Given the description of an element on the screen output the (x, y) to click on. 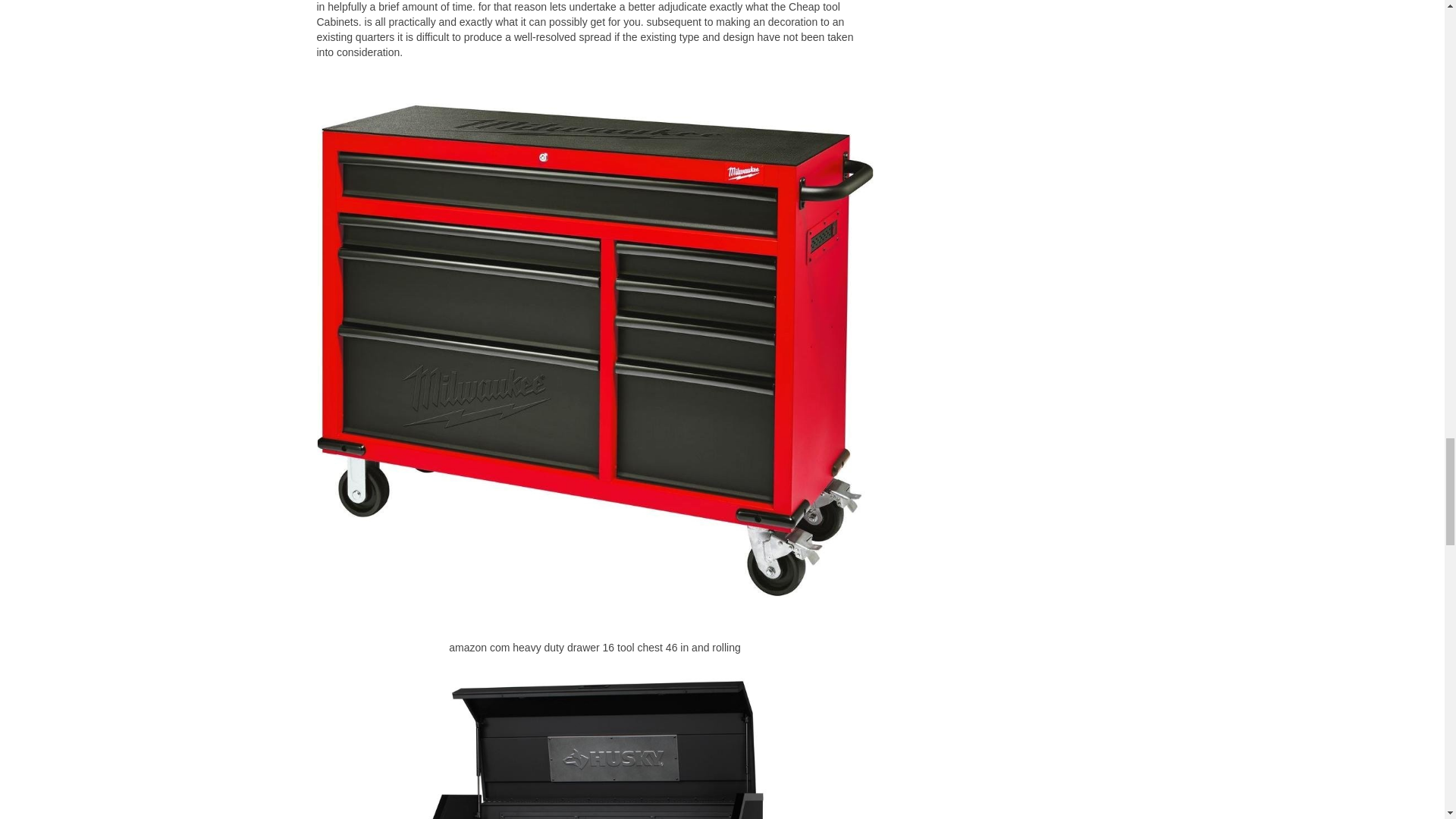
tool chests tool storage the home depot (595, 737)
